Given the description of an element on the screen output the (x, y) to click on. 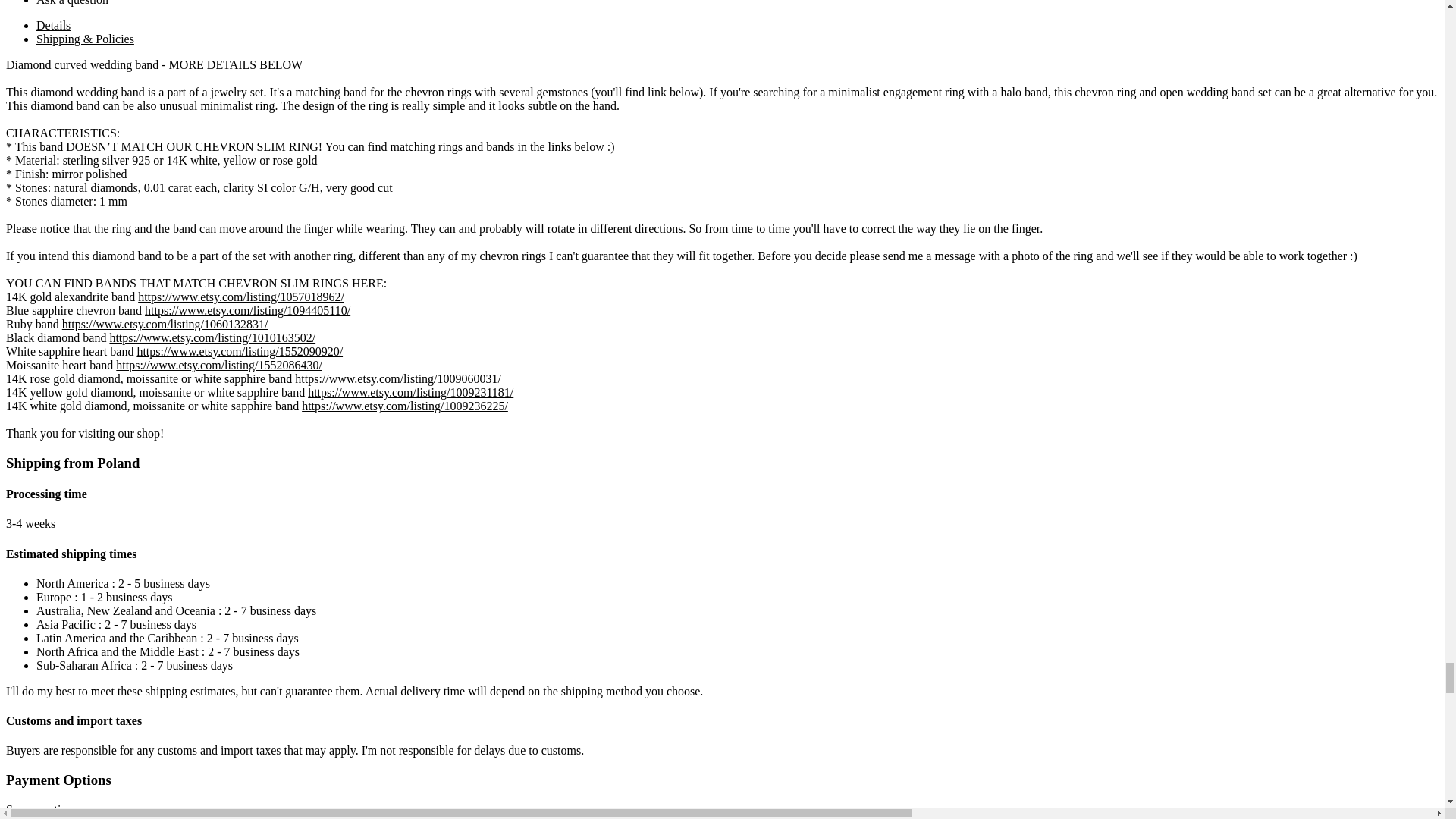
Ask a question (71, 2)
Details (52, 25)
